Given the description of an element on the screen output the (x, y) to click on. 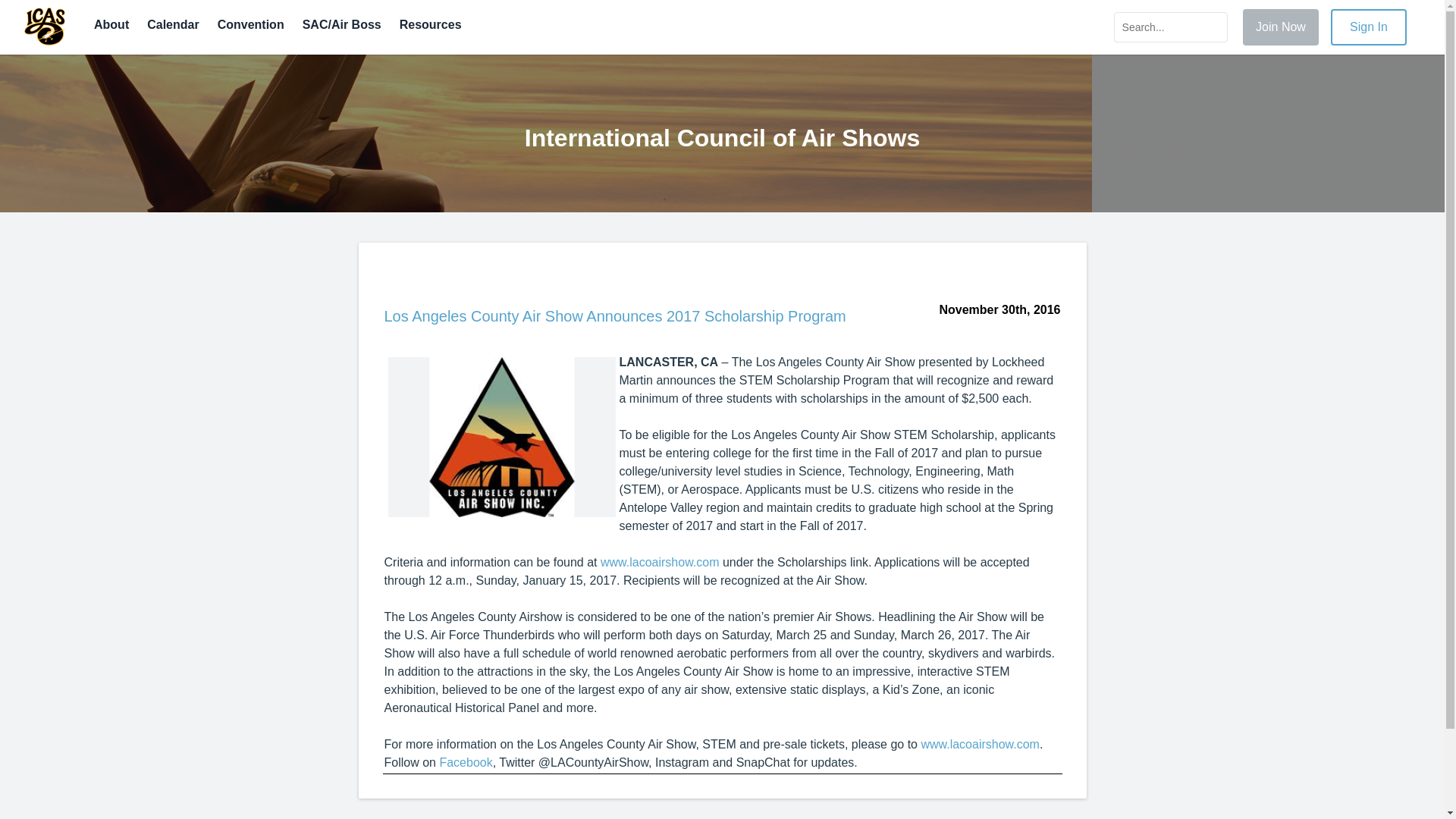
Calendar (172, 24)
Join Now (1274, 26)
Convention (249, 24)
www.lacoairshow.com (979, 744)
Resources (429, 24)
Search (1170, 27)
Sign In (1362, 26)
Join Now (1281, 27)
Sign In (1368, 27)
www.lacoairshow.com (659, 562)
Facebook (465, 762)
About (111, 24)
